Given the description of an element on the screen output the (x, y) to click on. 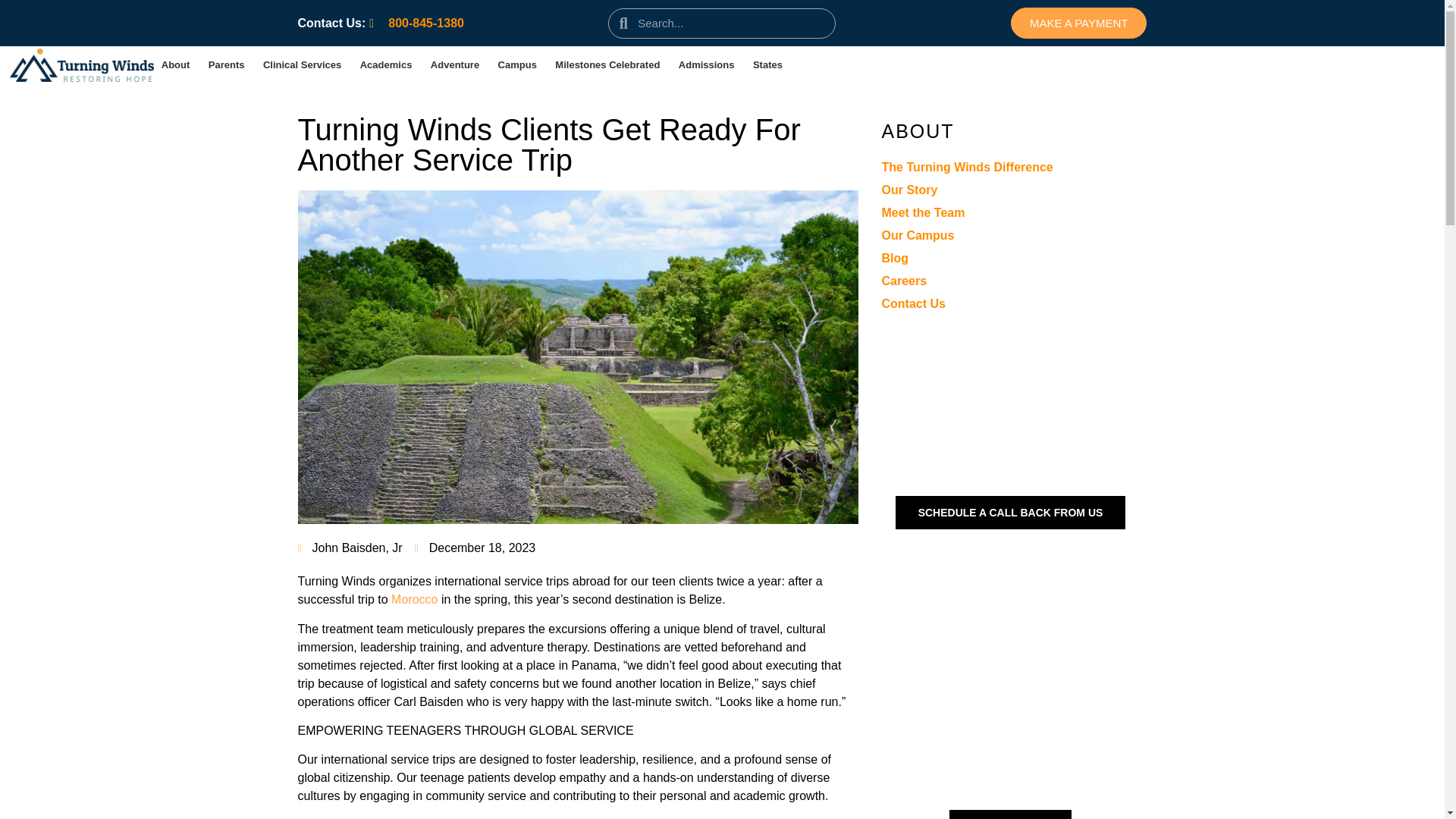
MAKE A PAYMENT (1078, 22)
800-845-1380 (416, 22)
Parents (226, 64)
TW-LOGOS-MASTER (82, 64)
About (175, 64)
